Given the description of an element on the screen output the (x, y) to click on. 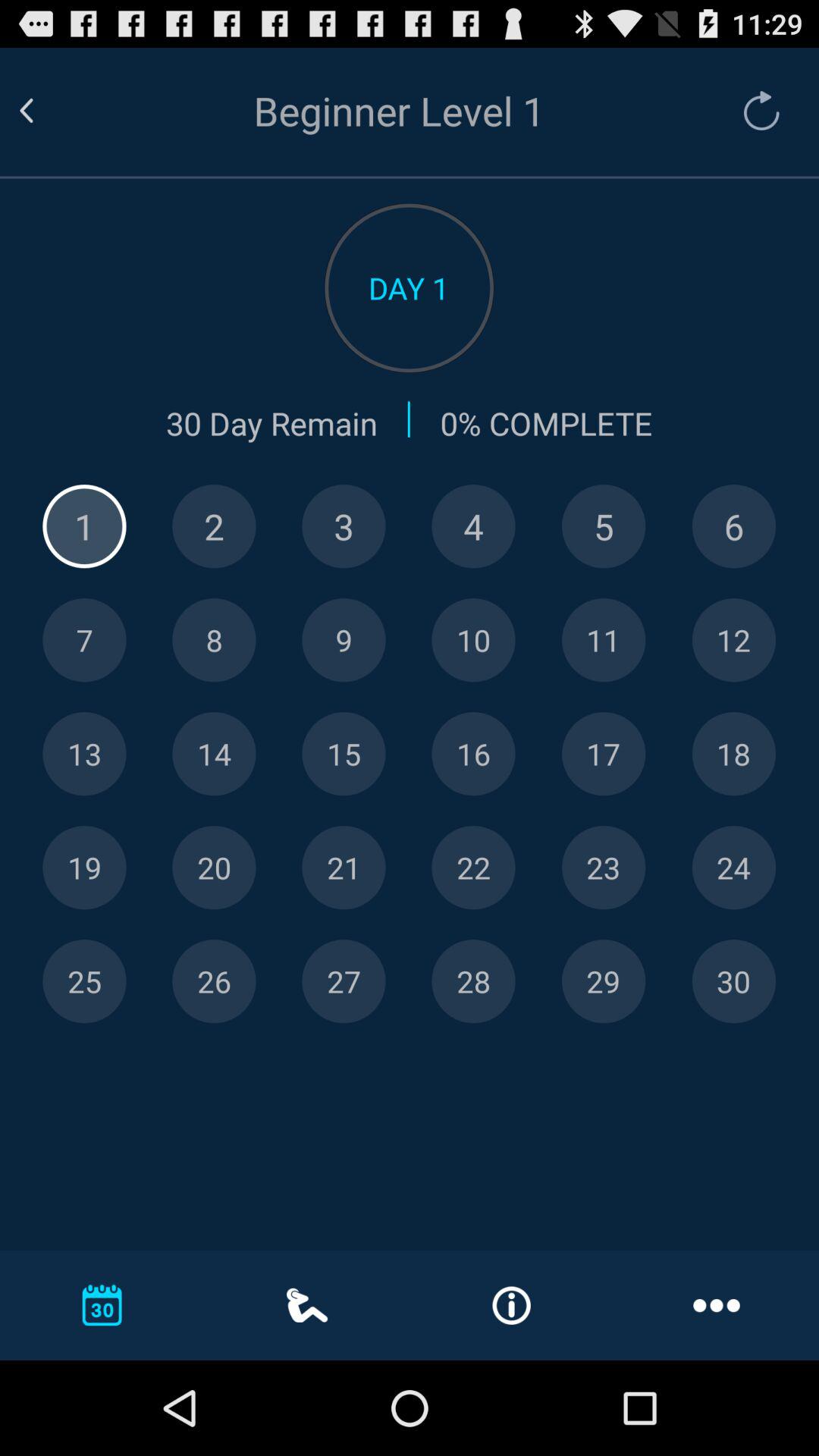
tap to choose the 18th day of the month (733, 753)
